Given the description of an element on the screen output the (x, y) to click on. 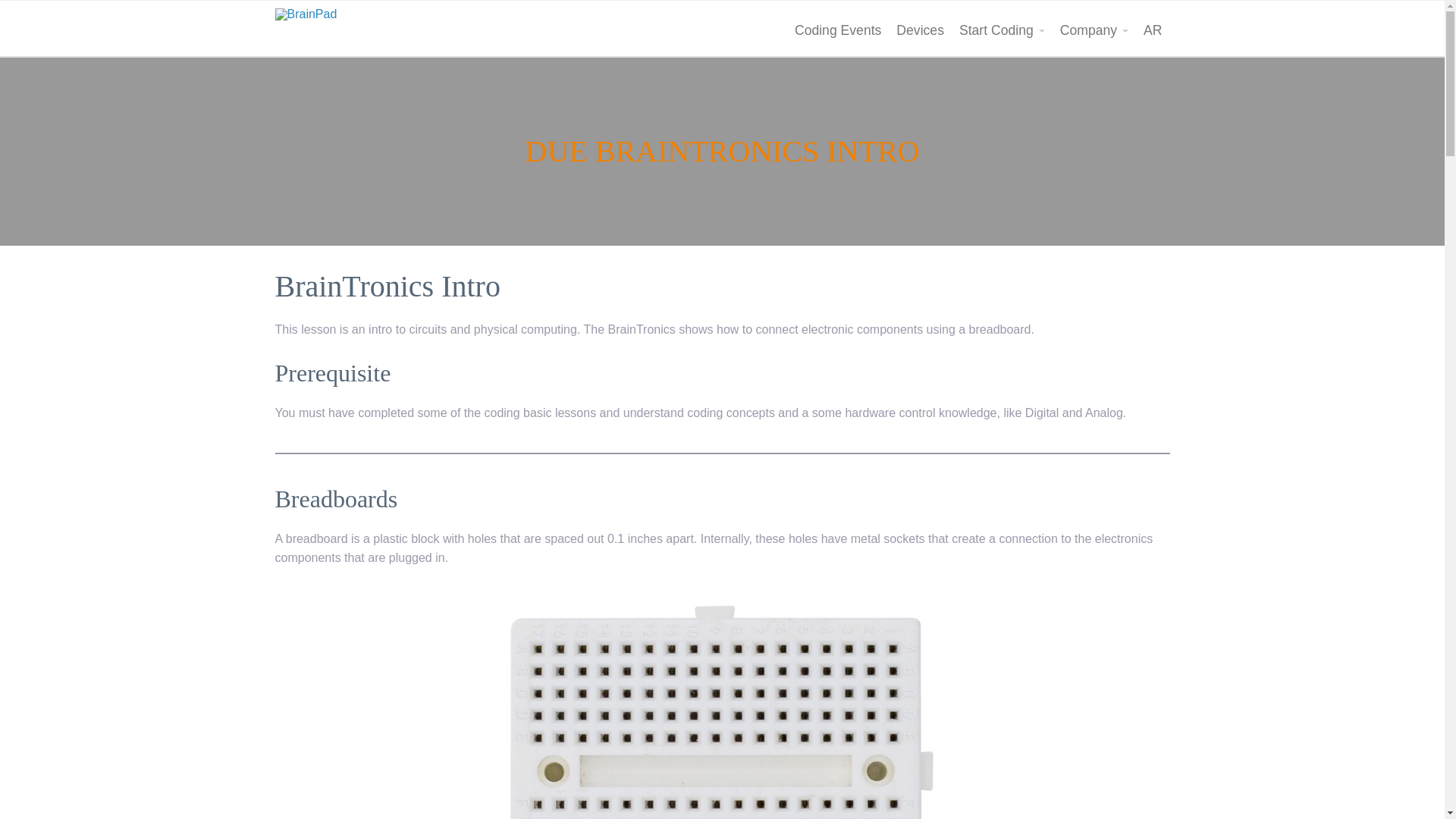
Coding Events (837, 30)
Company (1093, 30)
Devices (920, 30)
AR (1152, 30)
Start Coding (1002, 30)
